Given the description of an element on the screen output the (x, y) to click on. 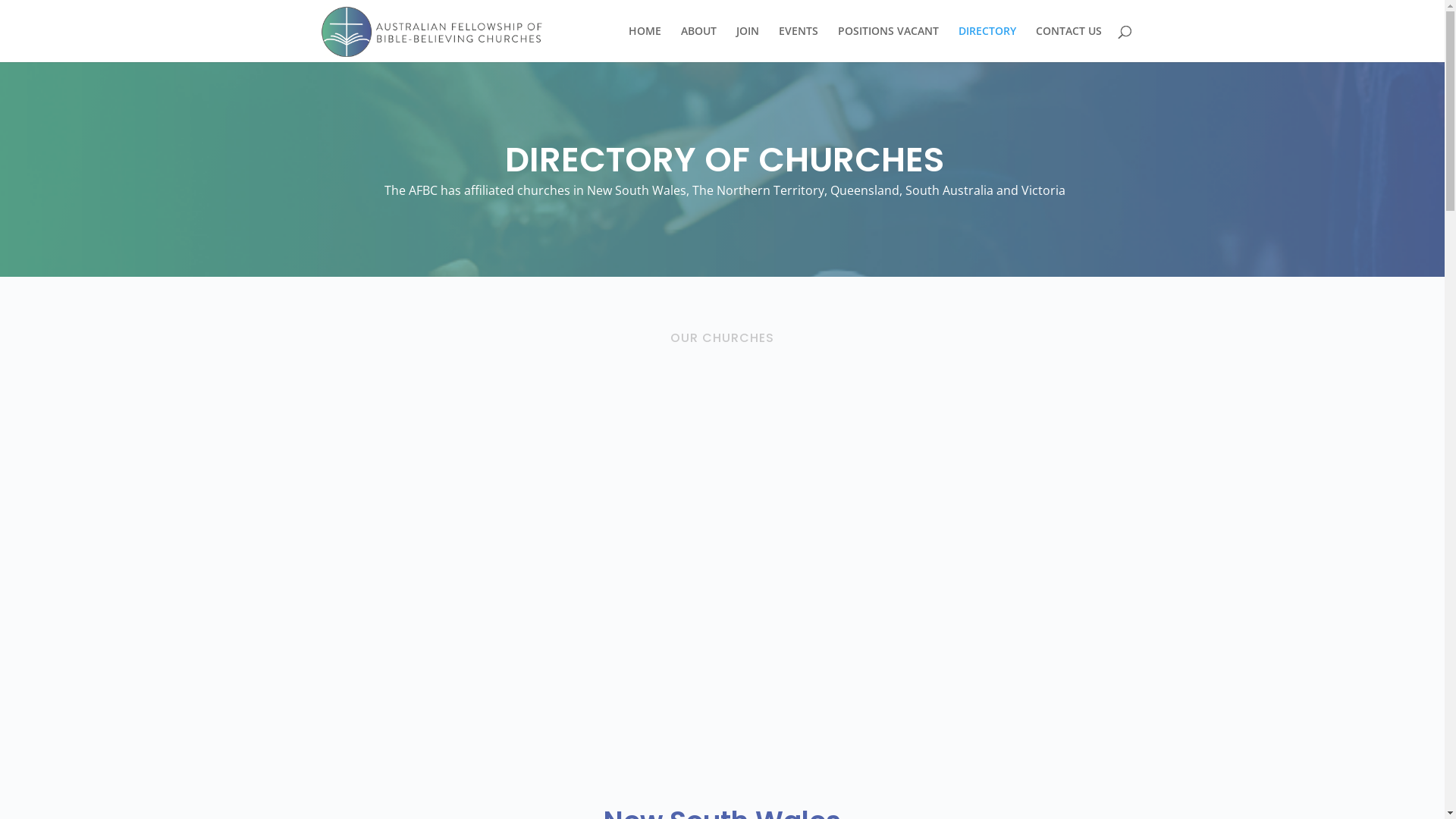
POSITIONS VACANT Element type: text (887, 43)
EVENTS Element type: text (797, 43)
HOME Element type: text (643, 43)
CONTACT US Element type: text (1068, 43)
DIRECTORY Element type: text (987, 43)
JOIN Element type: text (746, 43)
ABOUT Element type: text (698, 43)
